Given the description of an element on the screen output the (x, y) to click on. 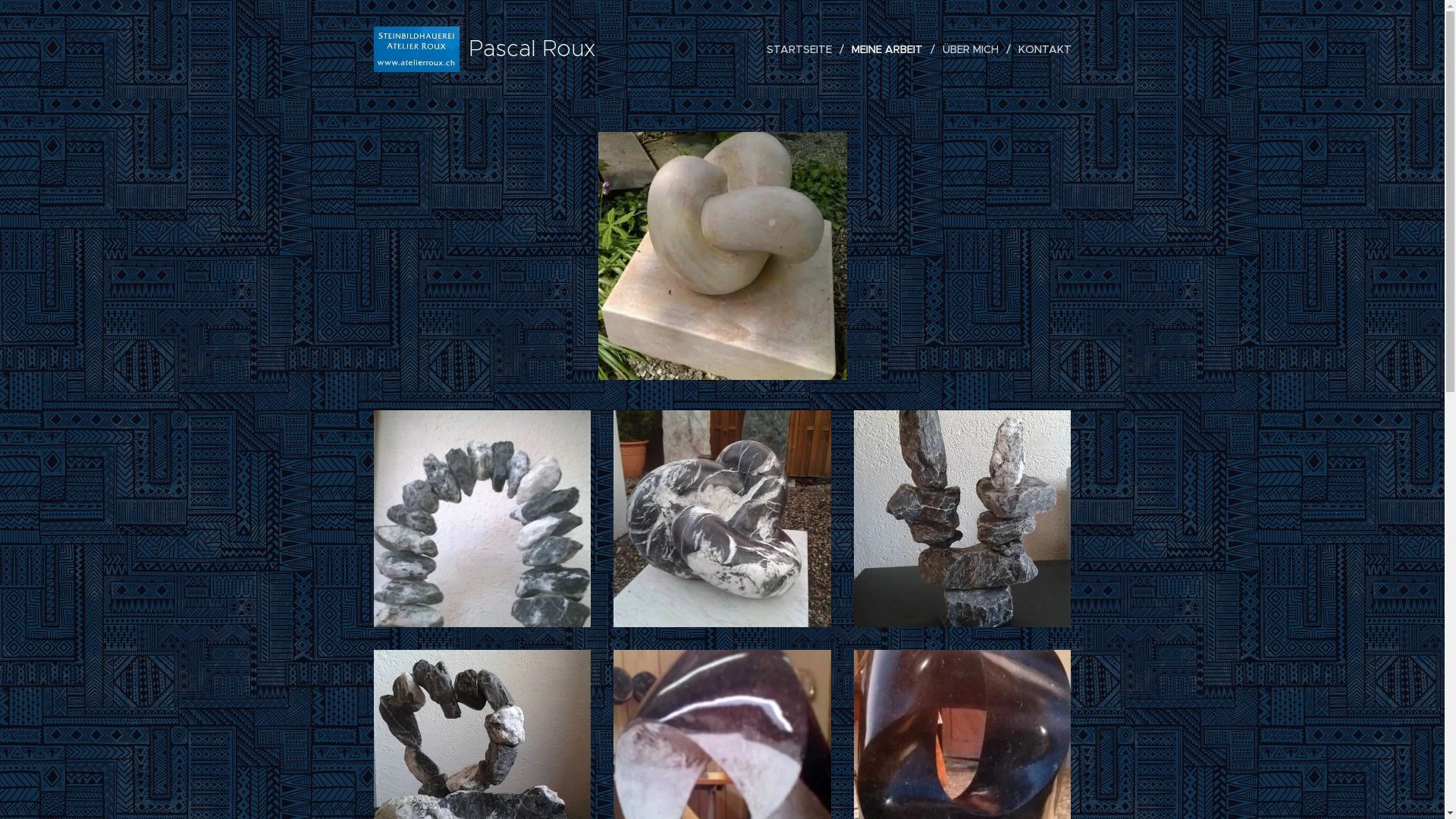
Pascal Roux Element type: text (486, 49)
STARTSEITE Element type: text (803, 49)
MEINE ARBEIT Element type: text (888, 49)
KONTAKT Element type: text (1040, 49)
